Given the description of an element on the screen output the (x, y) to click on. 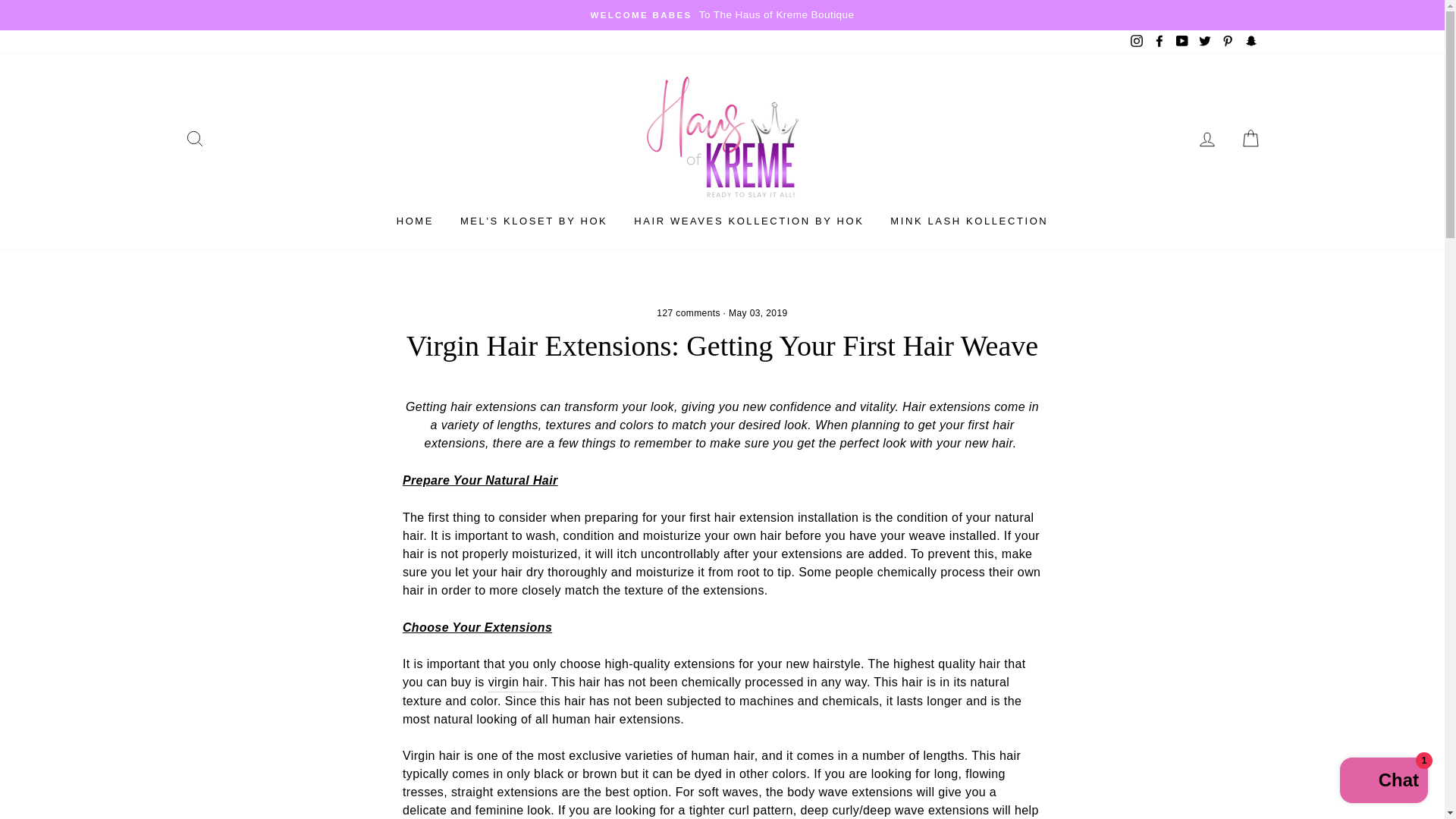
SEARCH (194, 138)
